Given the description of an element on the screen output the (x, y) to click on. 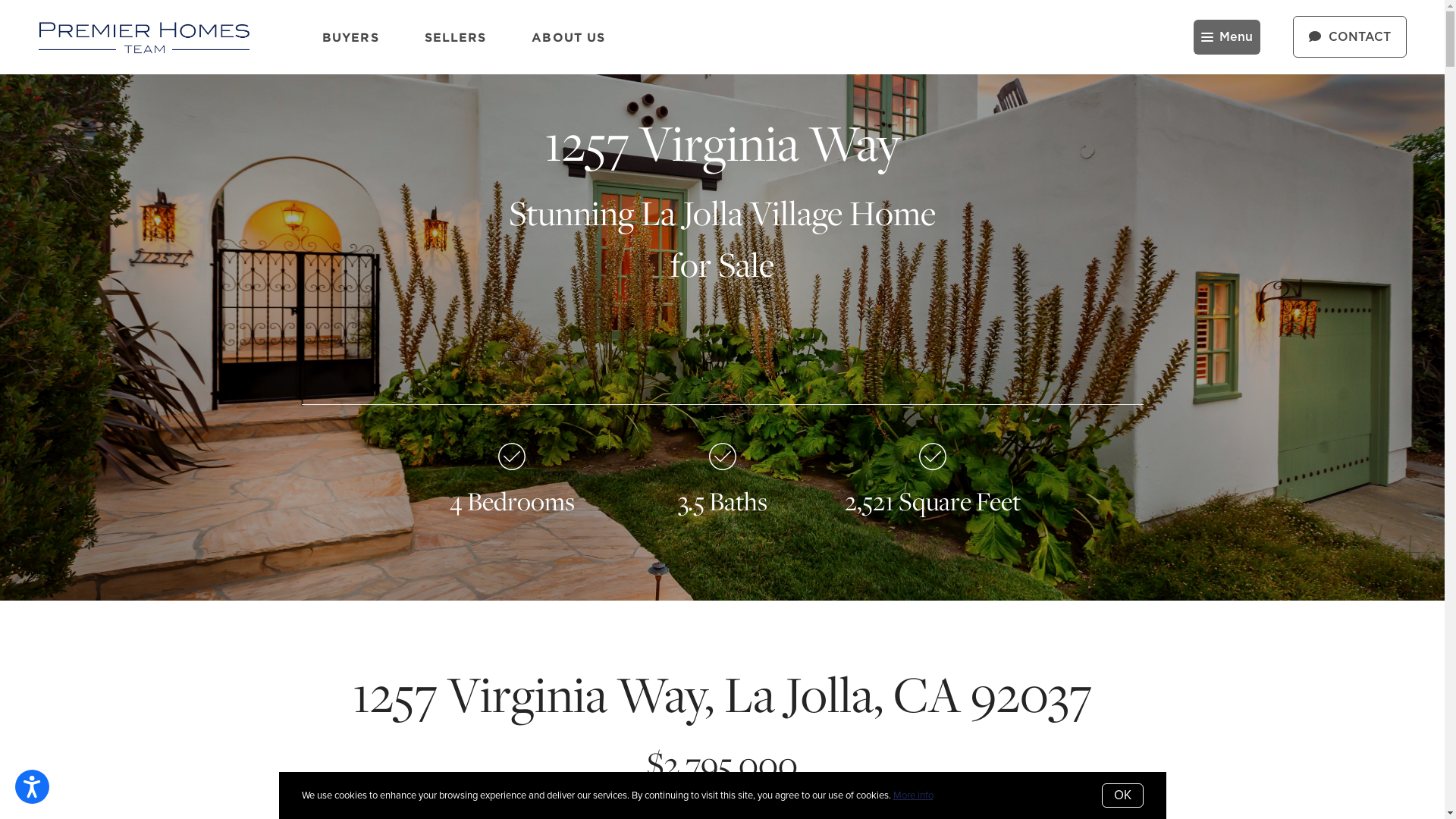
CONTACT Element type: text (1349, 36)
OK Element type: text (1121, 795)
Menu Element type: text (1226, 36)
SELLERS Element type: text (455, 37)
ABOUT US Element type: text (568, 37)
BUYERS Element type: text (350, 37)
More info Element type: text (913, 794)
